Given the description of an element on the screen output the (x, y) to click on. 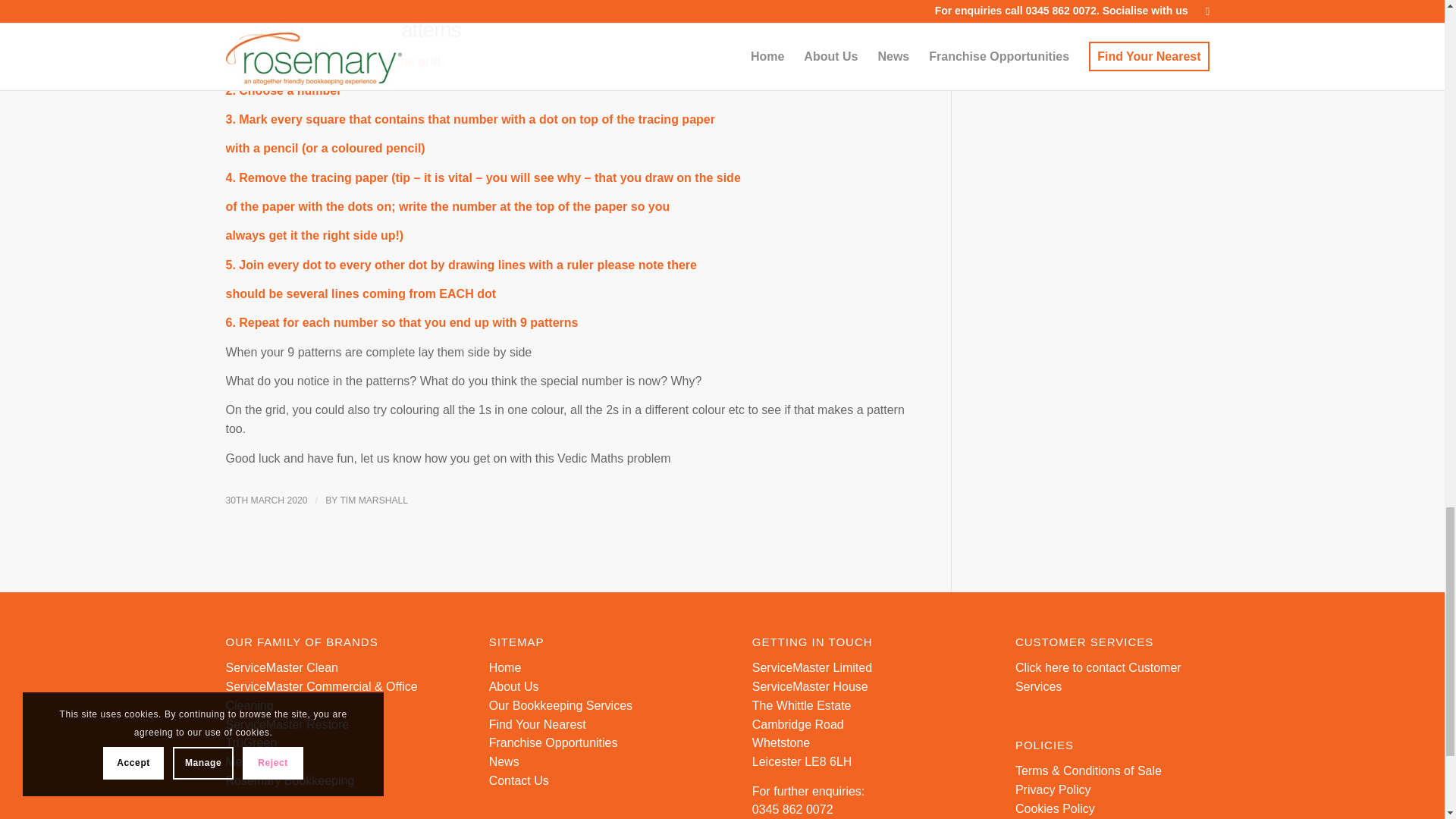
Posts by Tim Marshall (373, 500)
TruGreen (251, 742)
Merry Maids (258, 761)
ServiceMaster Clean (282, 667)
Rosemary Bookkeeping (290, 780)
ServiceMaster Clean (282, 667)
ServiceMaster Restore (287, 724)
ServiceMaster Restore (287, 724)
TIM MARSHALL (373, 500)
